Given the description of an element on the screen output the (x, y) to click on. 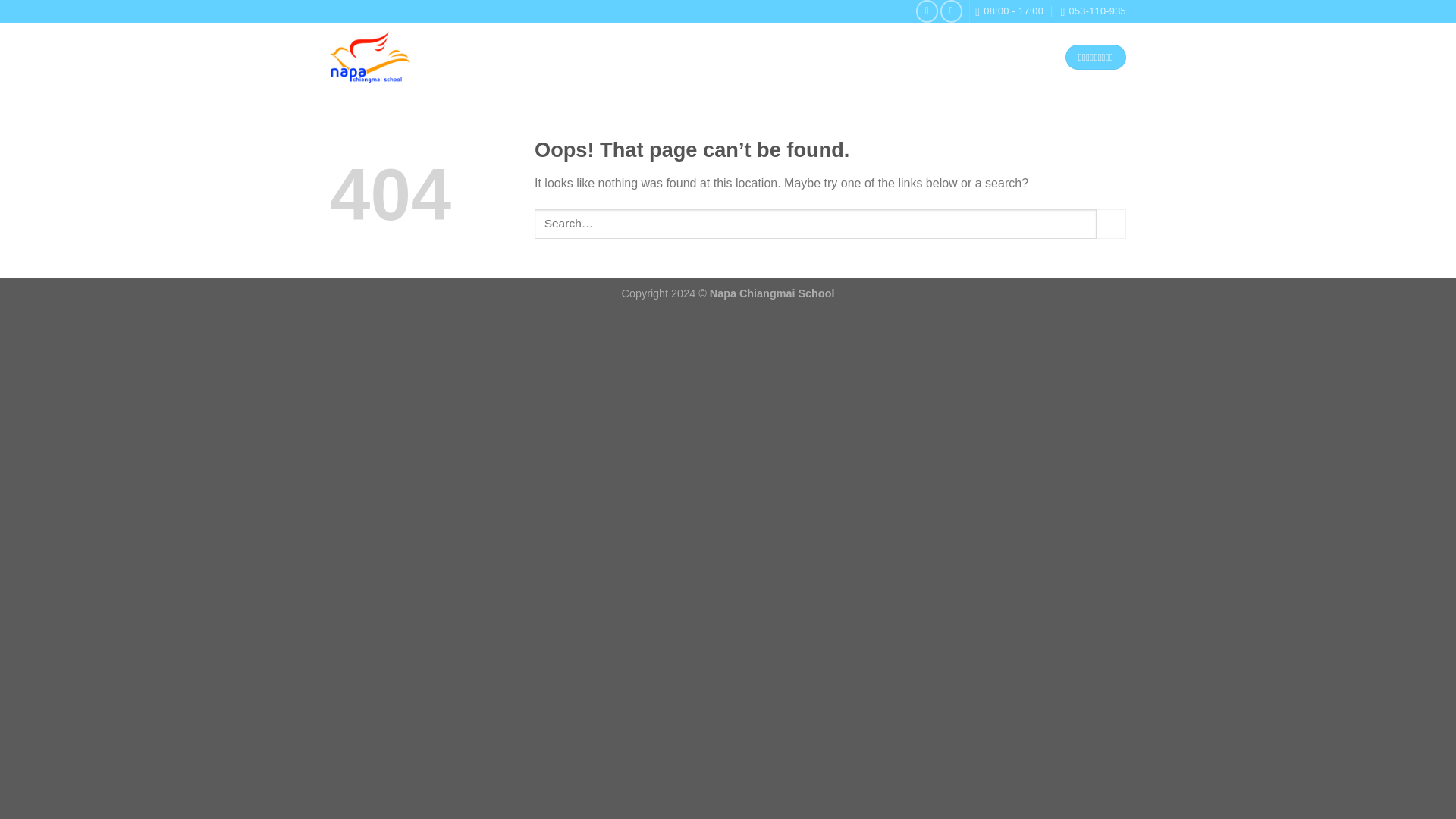
053-110-935 (1092, 11)
Follow on Facebook (926, 11)
053-110-935 (1092, 11)
Send us an email (951, 11)
08:00 - 17:00 (1009, 11)
08:00 - 17:00  (1009, 11)
